Given the description of an element on the screen output the (x, y) to click on. 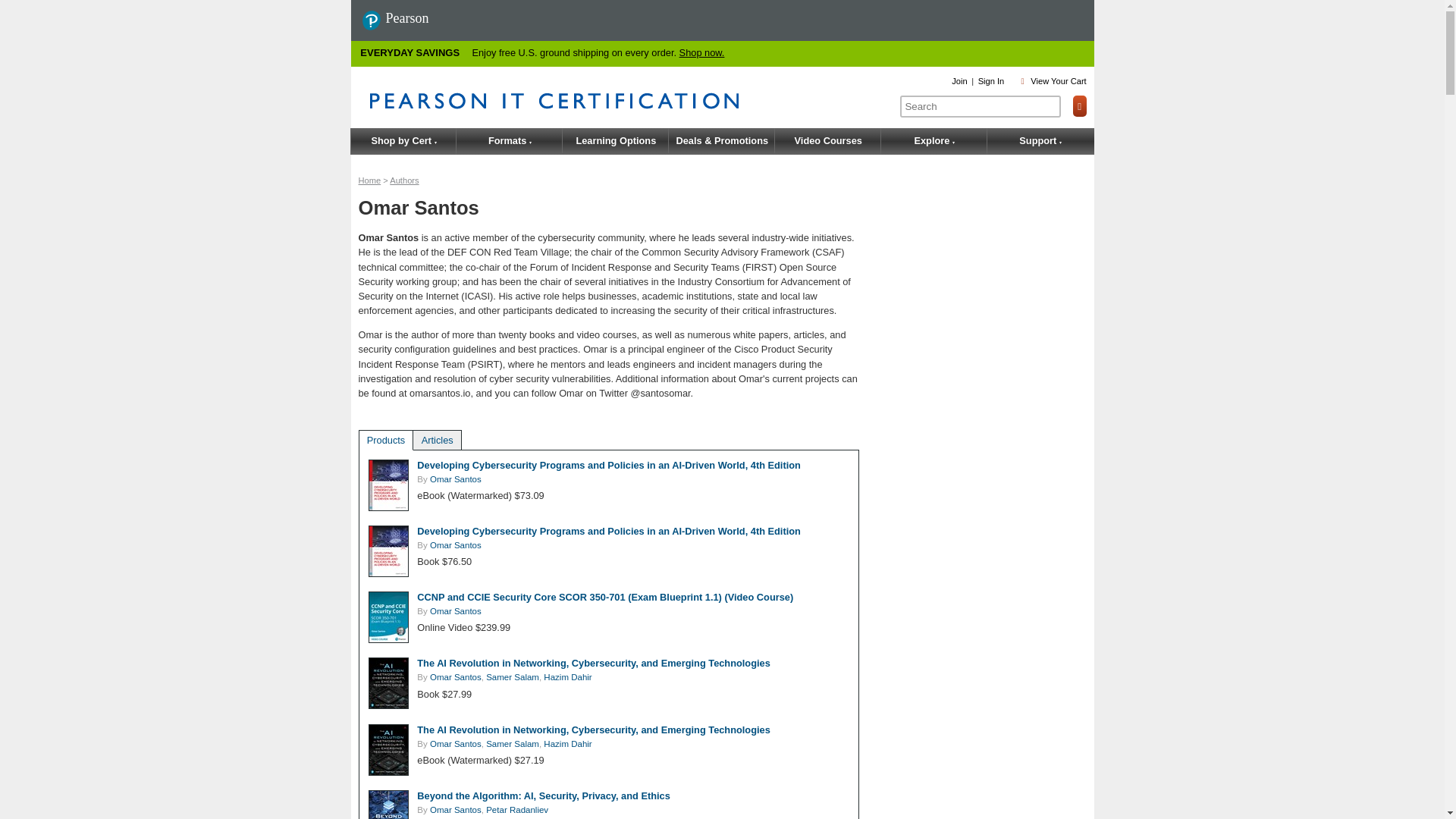
Omar Santos (455, 610)
Omar Santos (455, 809)
Products (386, 439)
Shop now. (702, 52)
Articles (437, 439)
Hazim Dahir (567, 676)
Petar Radanliev (517, 809)
Omar Santos (455, 544)
